Given the description of an element on the screen output the (x, y) to click on. 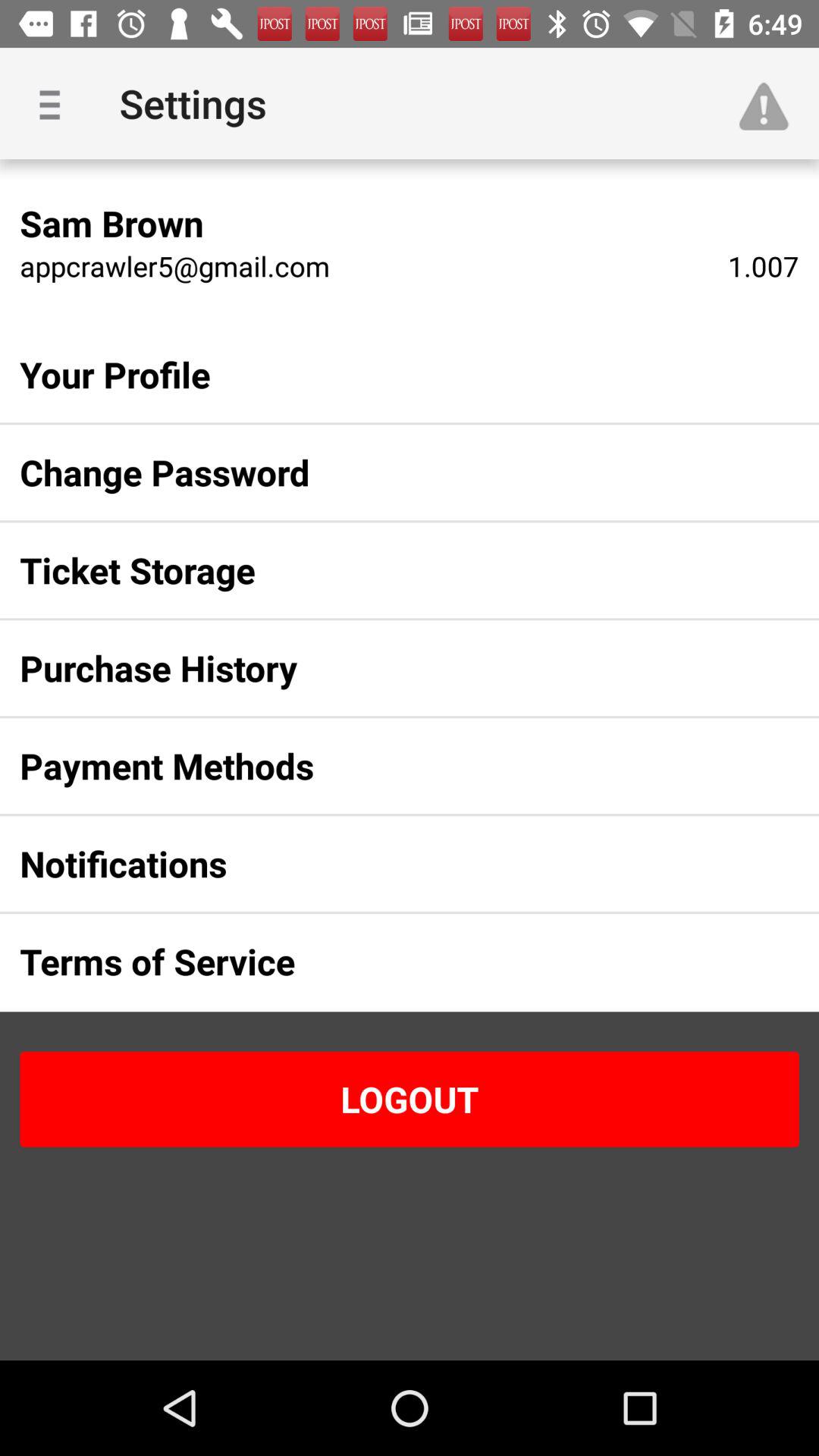
choose item below notifications icon (385, 961)
